Given the description of an element on the screen output the (x, y) to click on. 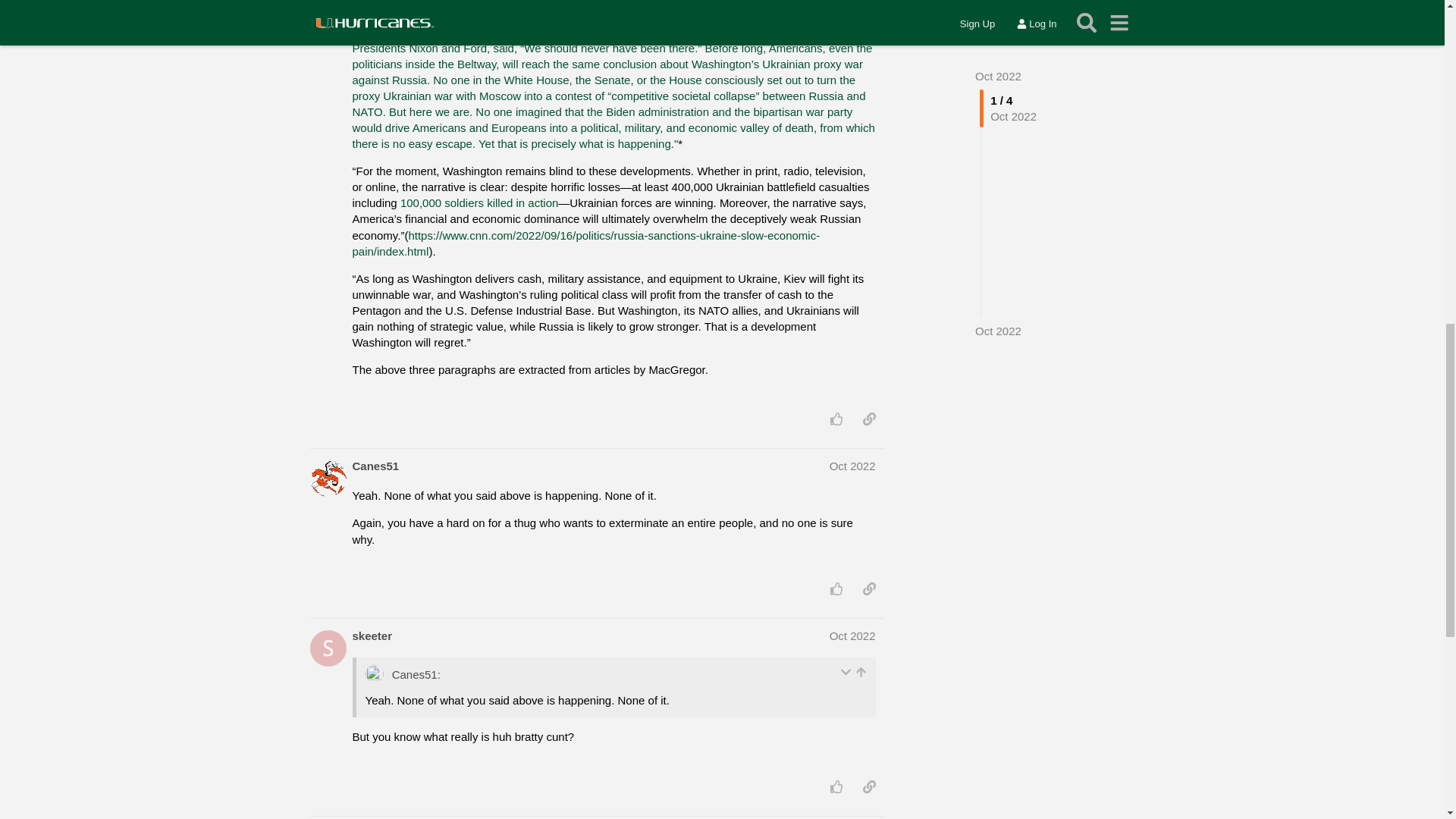
Oct 2022 (852, 465)
Canes51 (375, 465)
100,000 soldiers killed in action (478, 202)
